Given the description of an element on the screen output the (x, y) to click on. 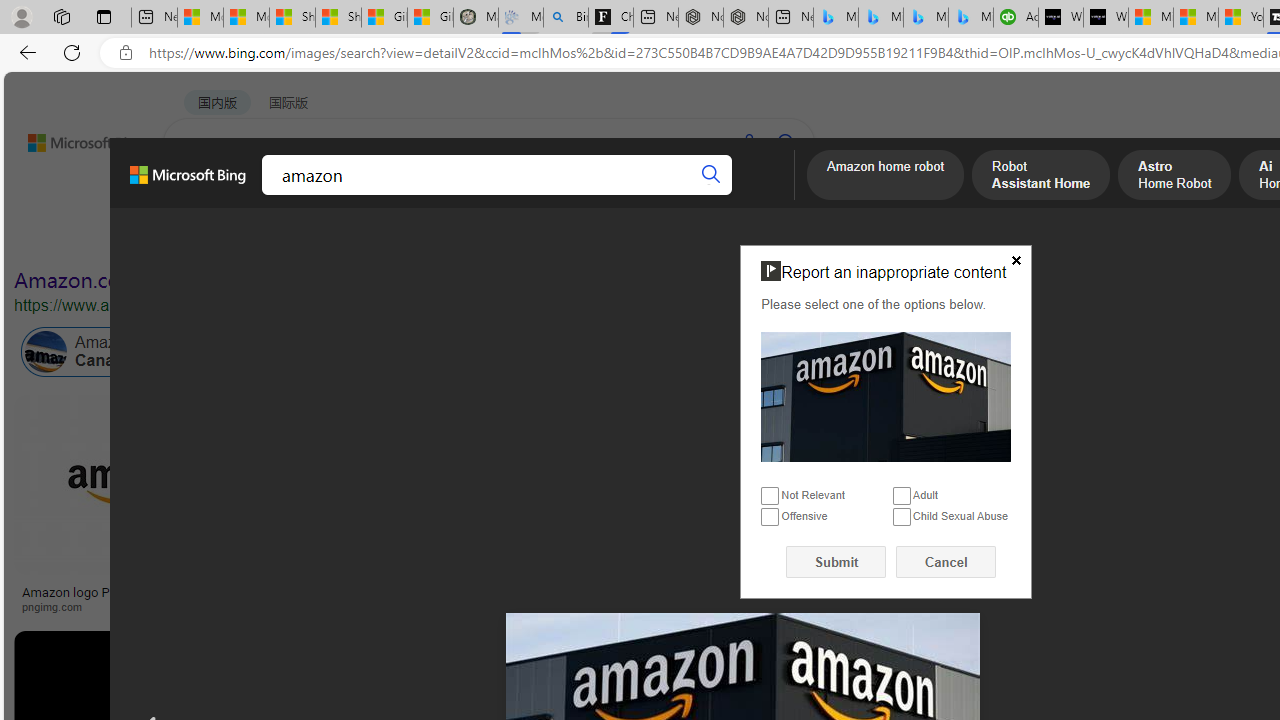
Search button (712, 174)
ACADEMIC (548, 195)
Invisible focusable element for fixing accessibility issue (749, 249)
usatoday.com (587, 605)
Layout (443, 237)
Amazon Canada Online (45, 351)
Microsoft Bing Travel - Stays in Bangkok, Bangkok, Thailand (880, 17)
DICT (630, 195)
Back to Bing search (73, 138)
Listen: What's next for Amazon? (710, 592)
